Given the description of an element on the screen output the (x, y) to click on. 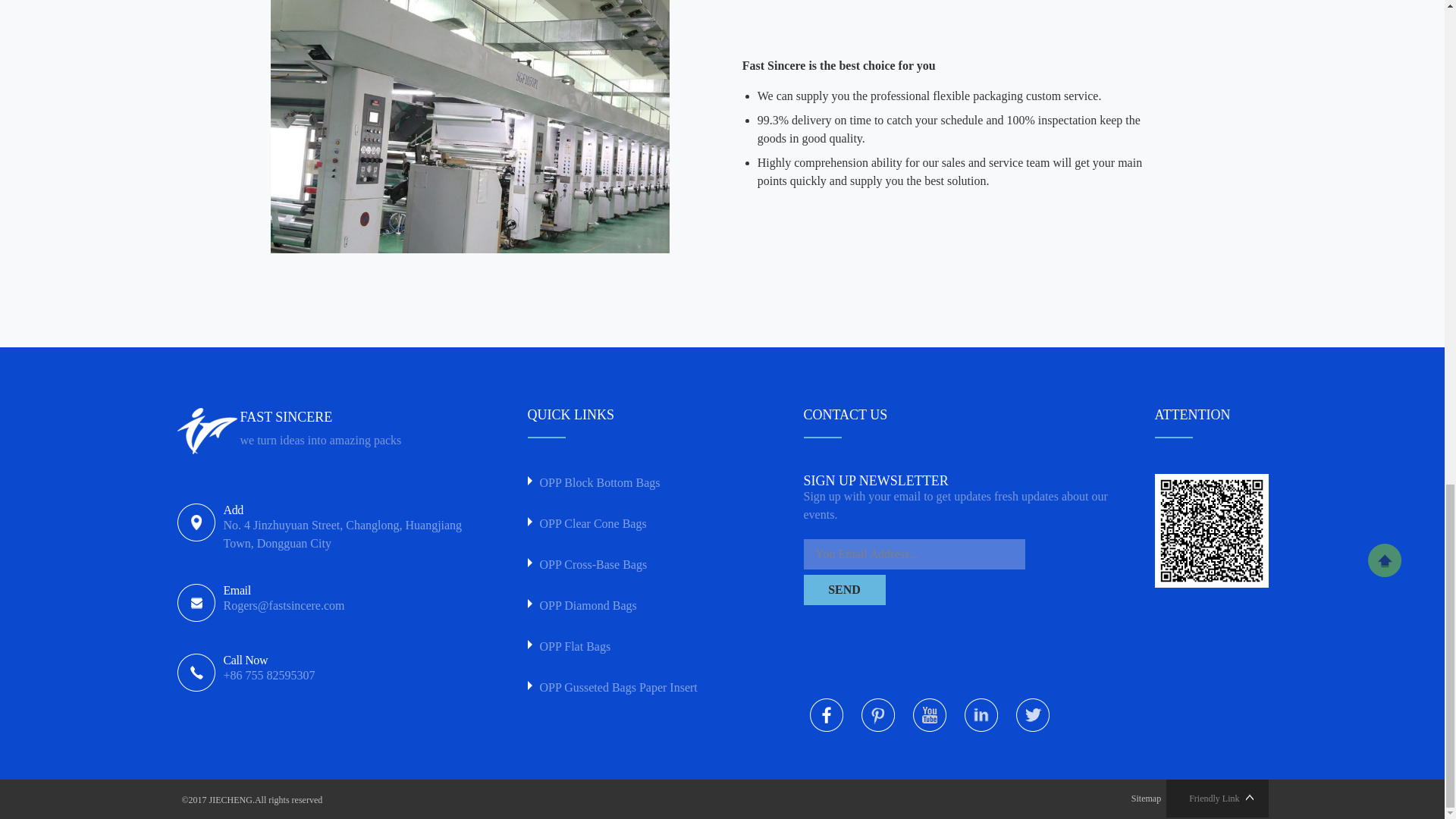
OPP Clear Cone Bags (636, 524)
OPP Flat Bags (636, 647)
facebook (825, 714)
tel (346, 669)
pinterest (878, 714)
linkedin (981, 714)
OPP Diamond Bags (636, 606)
email (346, 599)
OPP Block Bottom Bags (636, 483)
youtube (929, 714)
